Given the description of an element on the screen output the (x, y) to click on. 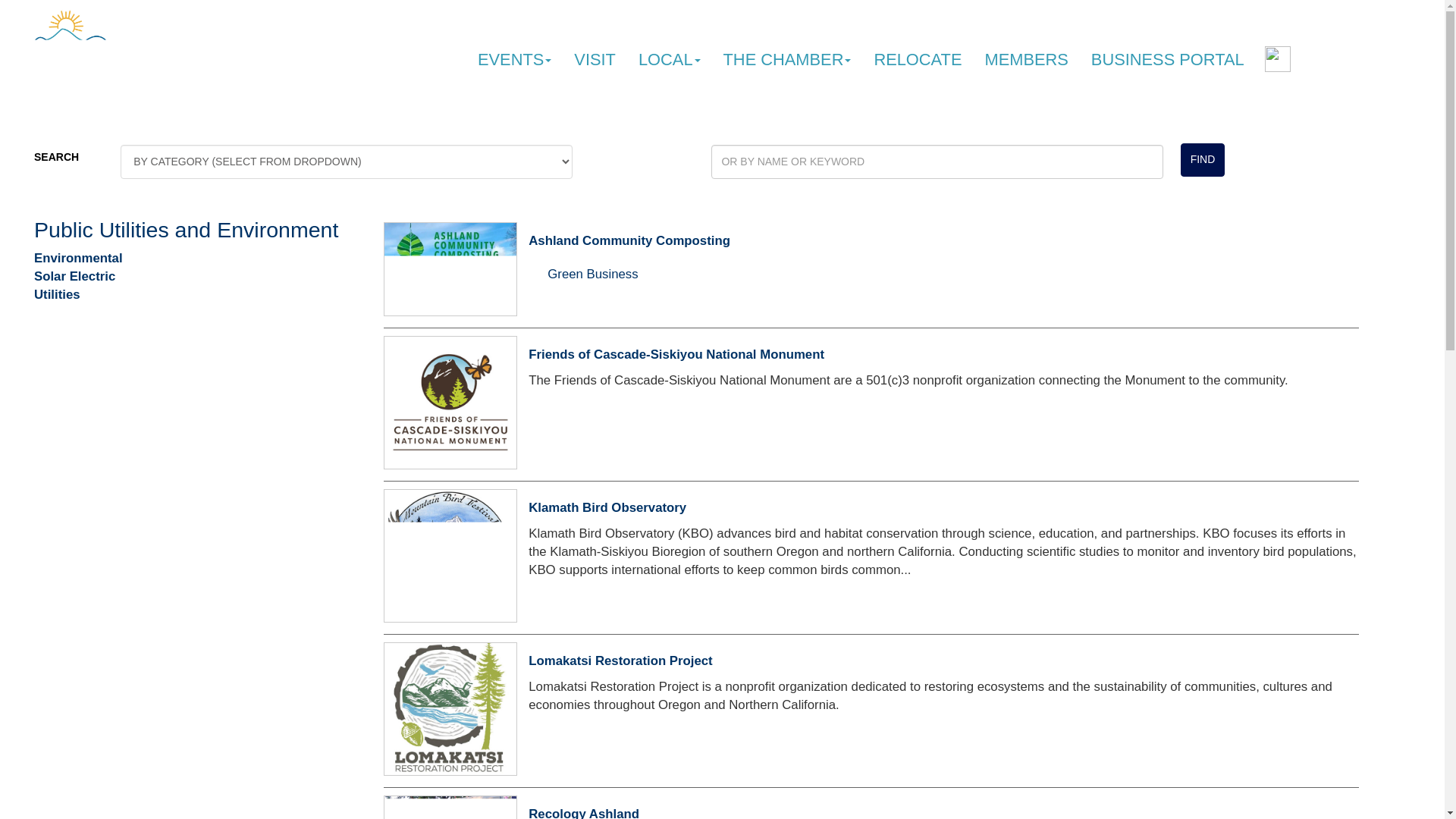
LOCAL (669, 60)
THE CHAMBER (787, 60)
VISIT (594, 60)
EVENTS (513, 60)
Ashland Chamber of Commerce - Home (100, 57)
